Given the description of an element on the screen output the (x, y) to click on. 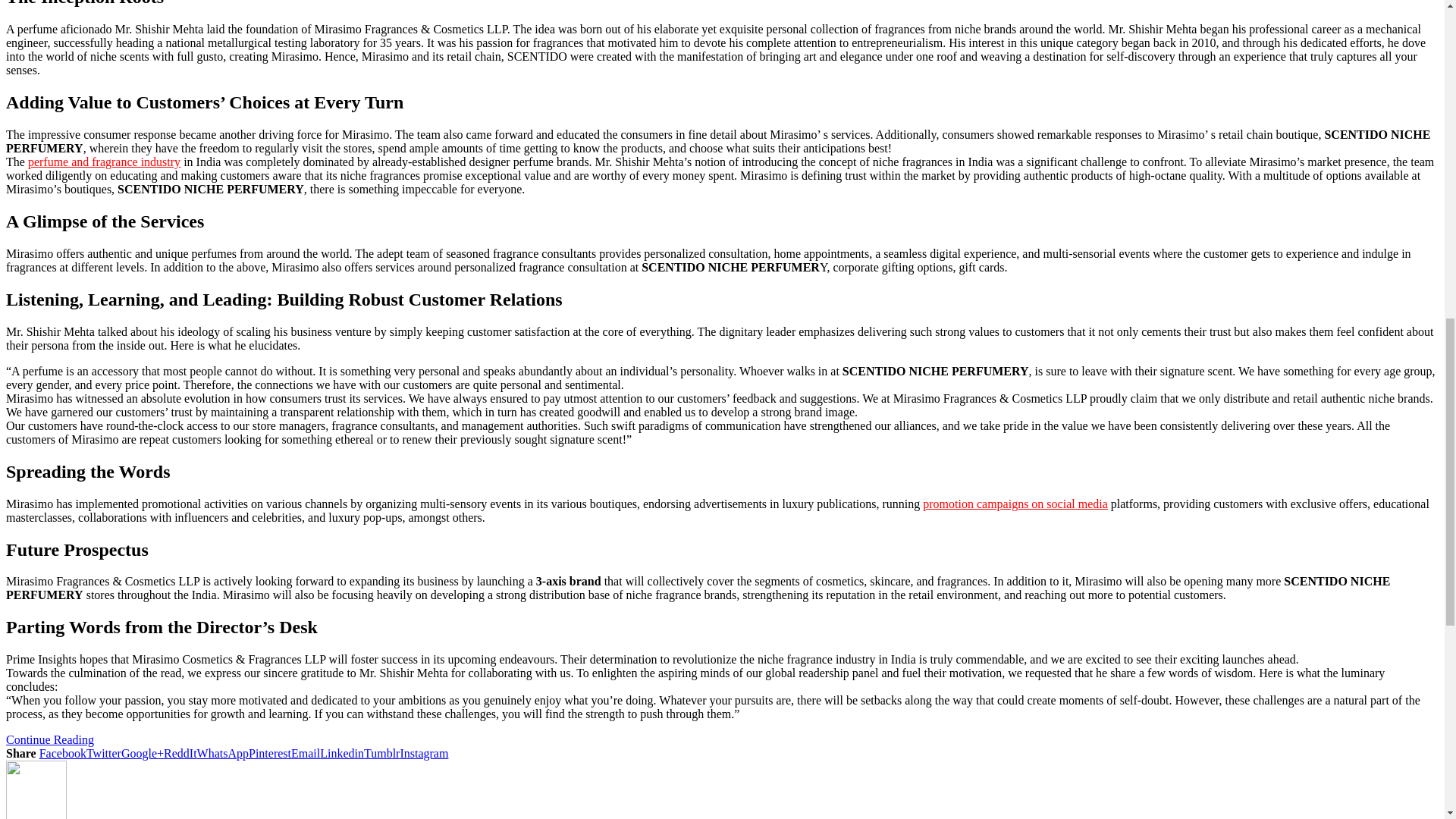
Browse Author Articles (35, 814)
